Given the description of an element on the screen output the (x, y) to click on. 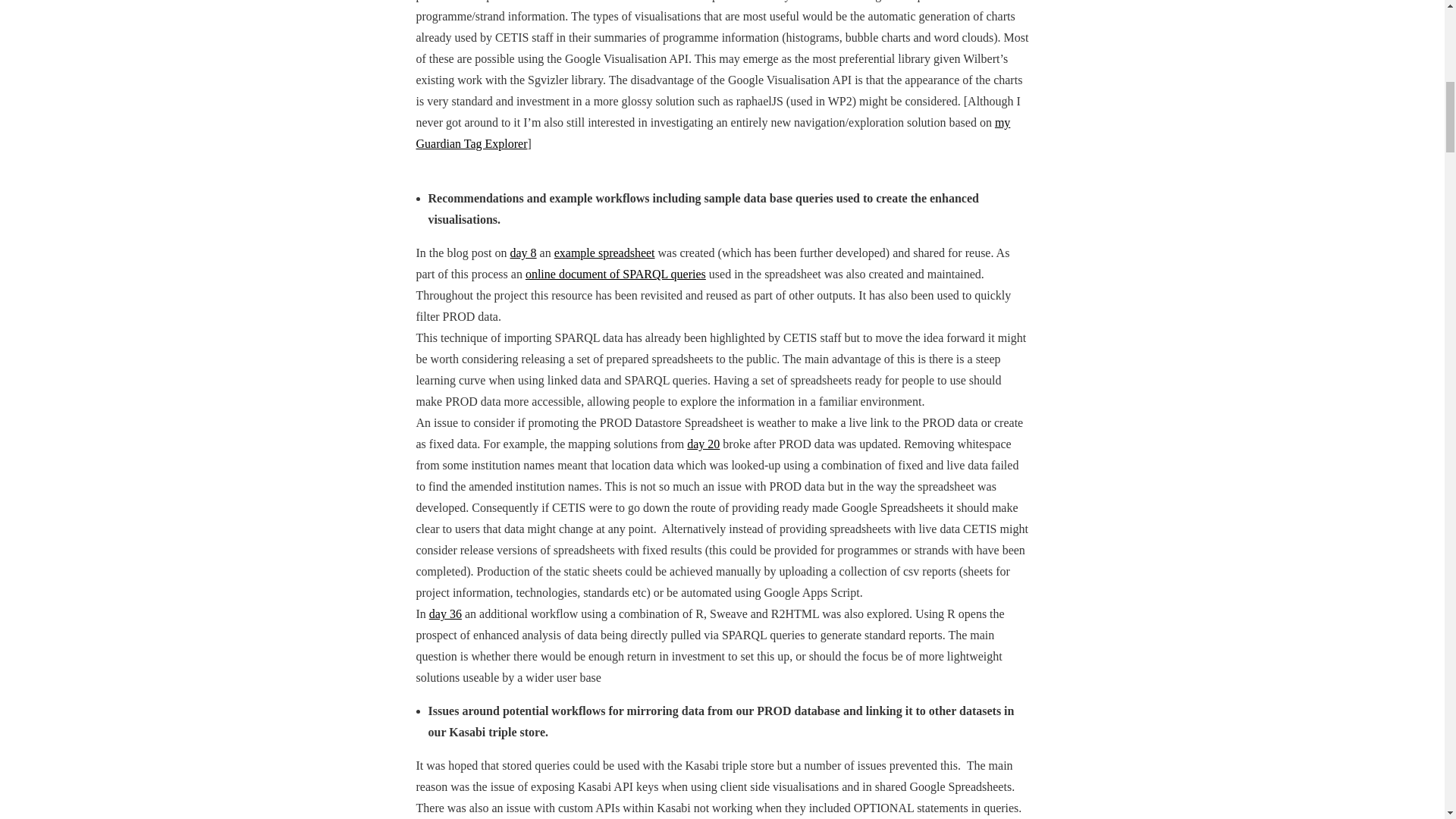
online document of SPARQL queries (615, 273)
day 8 (522, 252)
day 36 (445, 613)
example spreadsheet (604, 252)
day 20 (703, 443)
my Guardian Tag Explorer (712, 132)
